Given the description of an element on the screen output the (x, y) to click on. 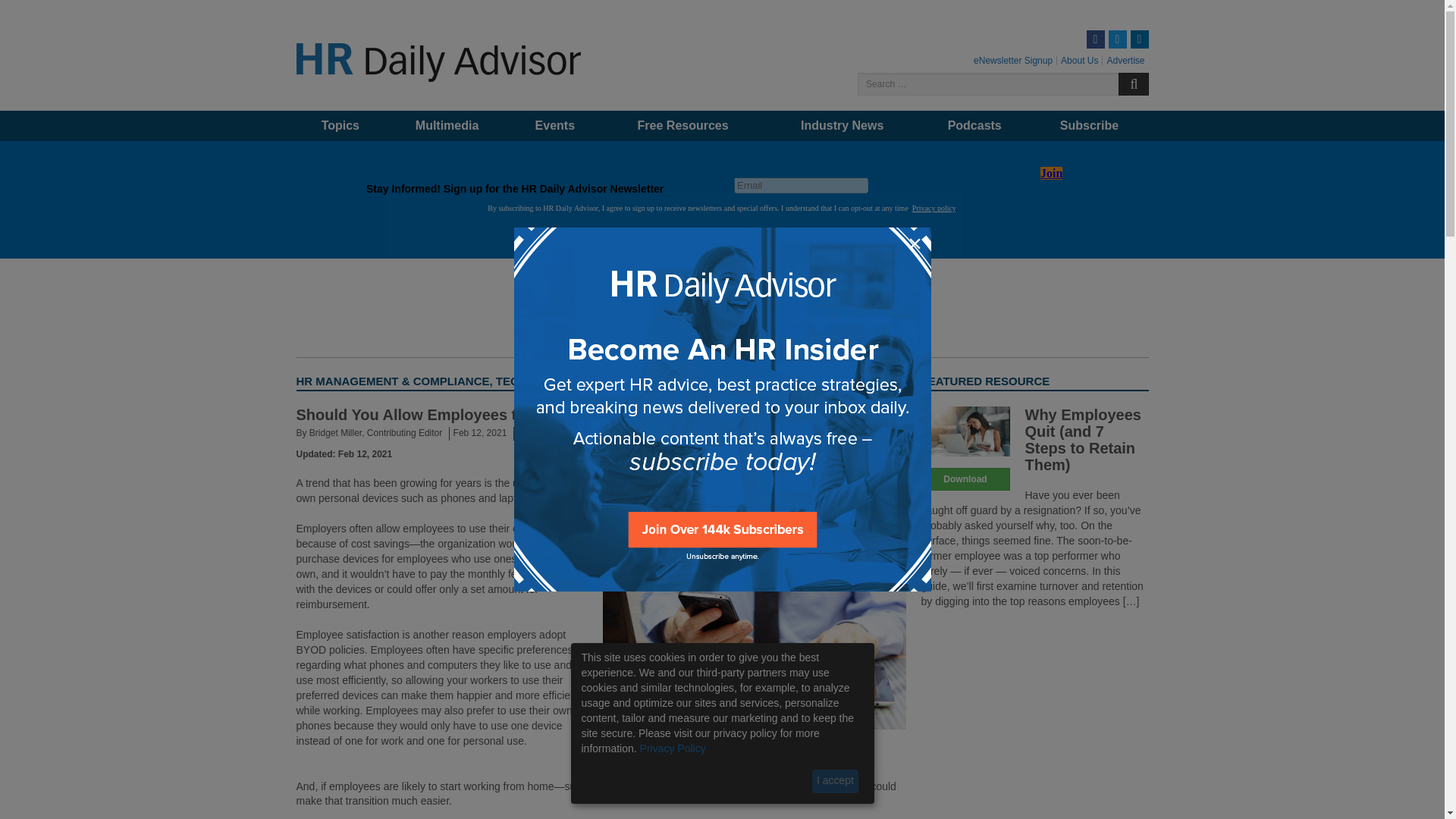
Topics (339, 125)
3rd party ad content (721, 307)
Twitter (1117, 39)
LinkedIn (1138, 39)
Free Resources (682, 125)
Advertise (1125, 60)
Search (1133, 83)
eNewsletter Signup (1013, 60)
About Us (1079, 60)
3rd party ad content (1034, 719)
Events (554, 125)
Facebook (1094, 39)
HR DAILY ADVISOR (359, 88)
Multimedia (446, 125)
